Given the description of an element on the screen output the (x, y) to click on. 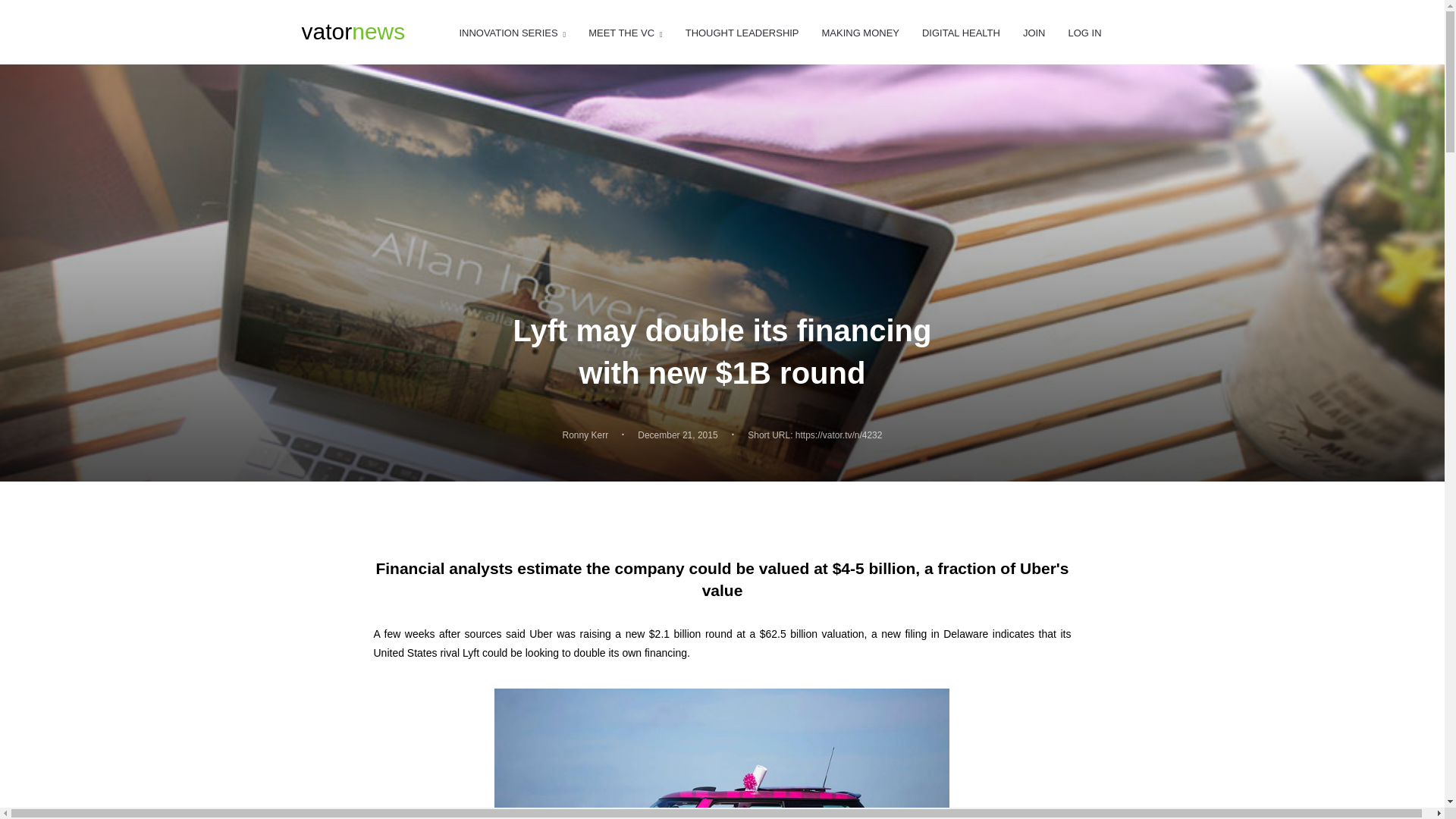
INNOVATION SERIES (512, 33)
MAKING MONEY (353, 32)
MEET THE VC (860, 33)
Ronny Kerr (625, 33)
THOUGHT LEADERSHIP (585, 434)
DIGITAL HEALTH (742, 33)
LOG IN (960, 33)
